Given the description of an element on the screen output the (x, y) to click on. 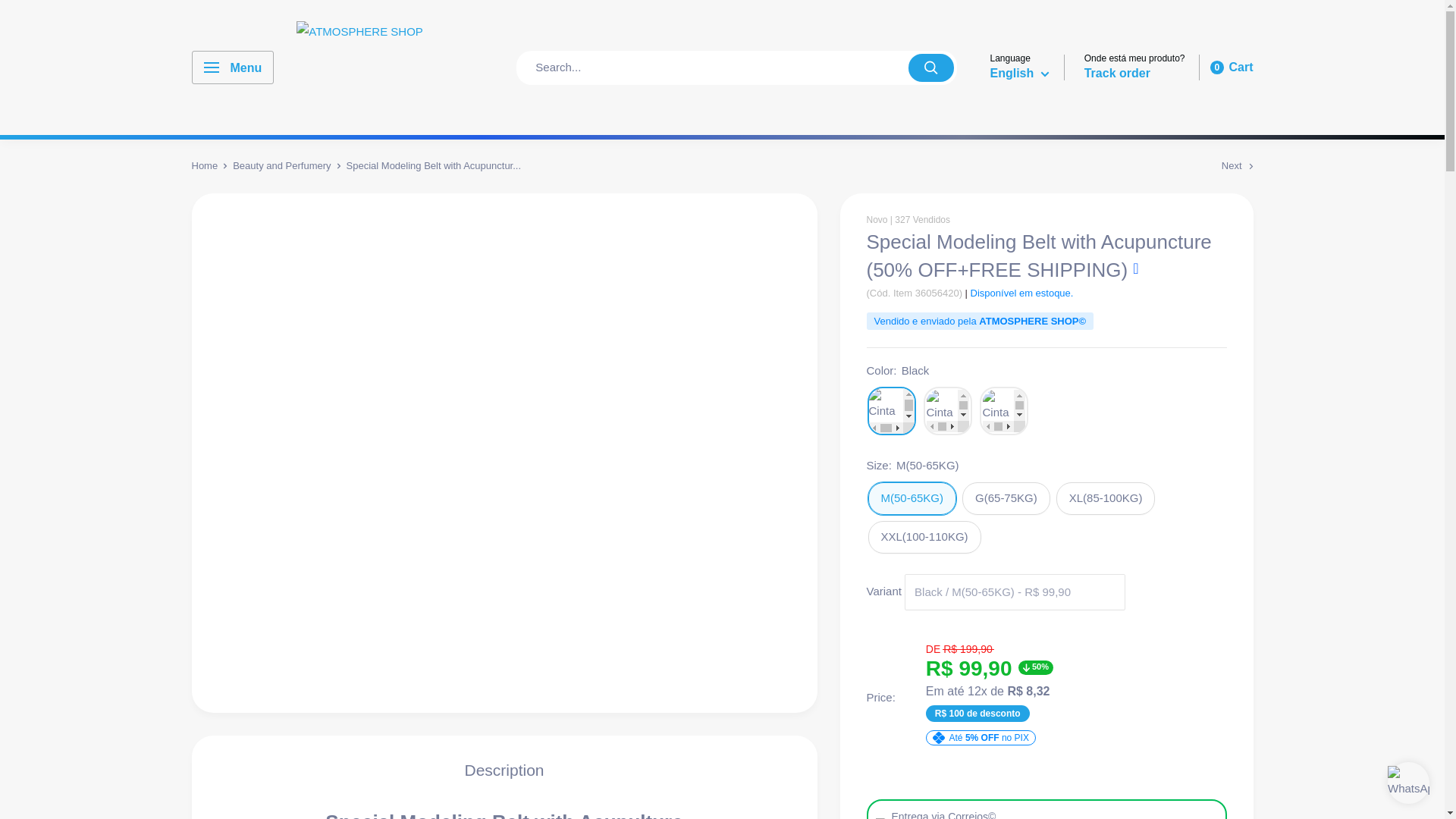
es (1011, 158)
Black (891, 410)
English (1019, 73)
pt-BR (1011, 114)
Menu (231, 67)
Beige (947, 410)
en (1011, 136)
Gray (1233, 67)
